Given the description of an element on the screen output the (x, y) to click on. 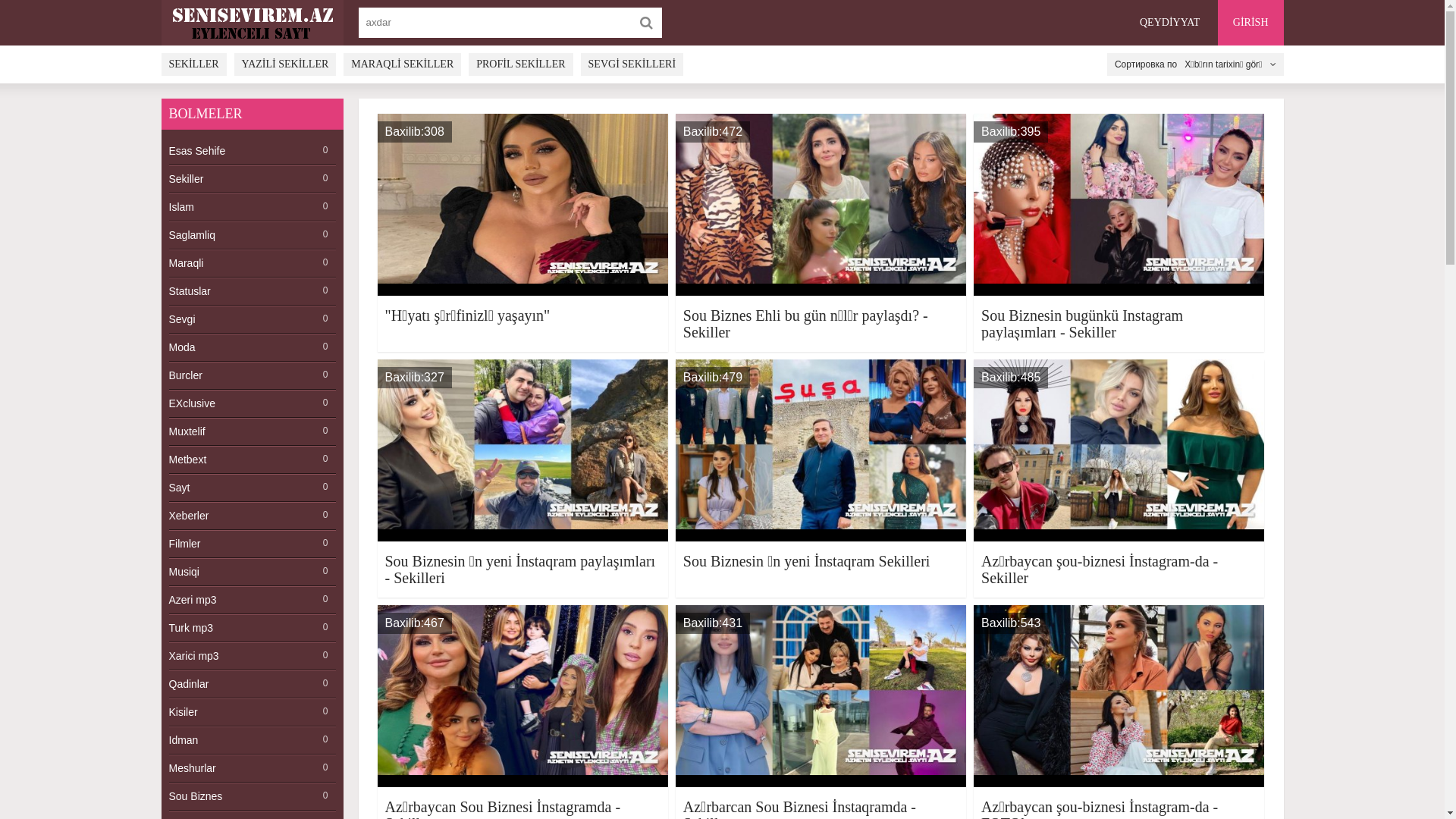
Moda Element type: text (251, 347)
EXclusive Element type: text (251, 403)
Baxilib:308 Element type: text (522, 204)
Qadinlar Element type: text (251, 684)
Baxilib:472 Element type: text (820, 204)
Kisiler Element type: text (251, 712)
Esas Sehife Element type: text (251, 151)
Baxilib:485 Element type: text (1118, 450)
Muxtelif Element type: text (251, 431)
Sou Biznes Element type: text (251, 796)
Baxilib:467 Element type: text (522, 696)
Saglamliq Element type: text (251, 235)
Azeri mp3 Element type: text (251, 600)
Baxilib:395 Element type: text (1118, 204)
Baxilib:543 Element type: text (1118, 696)
Filmler Element type: text (251, 544)
Musiqi Element type: text (251, 572)
MARAQLI SEKILLER Element type: text (402, 64)
Statuslar Element type: text (251, 291)
Sevgi Element type: text (251, 319)
Sekiller Element type: text (251, 179)
QEYDIYYAT Element type: text (1169, 22)
Meshurlar Element type: text (251, 768)
Baxilib:327 Element type: text (522, 450)
Burcler Element type: text (251, 375)
Xeberler Element type: text (251, 516)
Turk mp3 Element type: text (251, 628)
SEVGI SEKILLERI Element type: text (632, 64)
YAZILI SEKILLER Element type: text (285, 64)
PROFIL SEKILLER Element type: text (520, 64)
Islam Element type: text (251, 207)
Baxilib:479 Element type: text (820, 450)
Metbext Element type: text (251, 459)
SEKILLER Element type: text (192, 64)
Sayt Element type: text (251, 487)
Baxilib:431 Element type: text (820, 696)
Xarici mp3 Element type: text (251, 656)
Idman Element type: text (251, 740)
Maraqli Element type: text (251, 263)
